Given the description of an element on the screen output the (x, y) to click on. 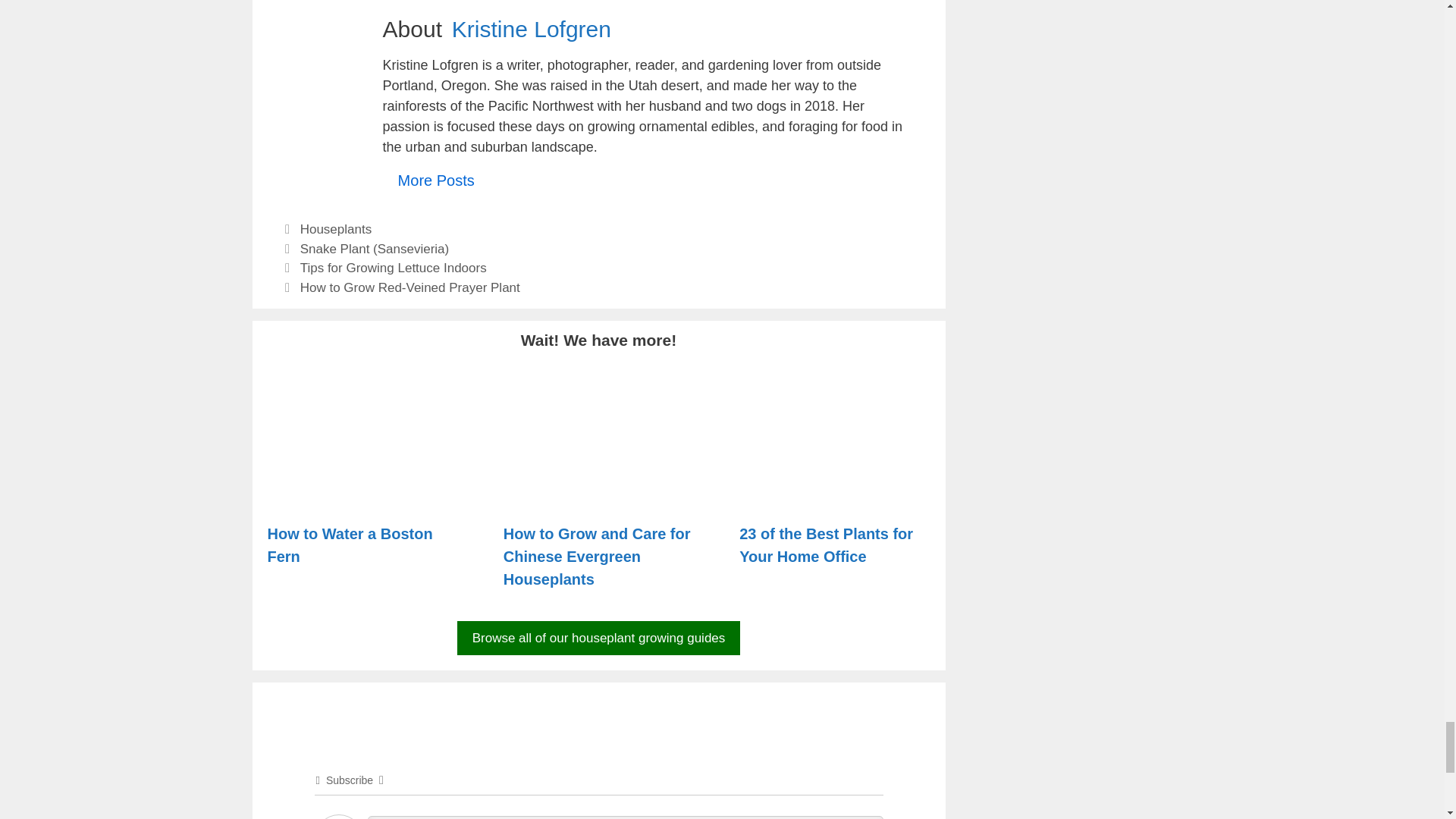
How to Grow and Care for Chinese Evergreen Houseplants (598, 495)
23 of the Best Plants for Your Home Office (833, 495)
How to Water a Boston Fern (361, 495)
